Given the description of an element on the screen output the (x, y) to click on. 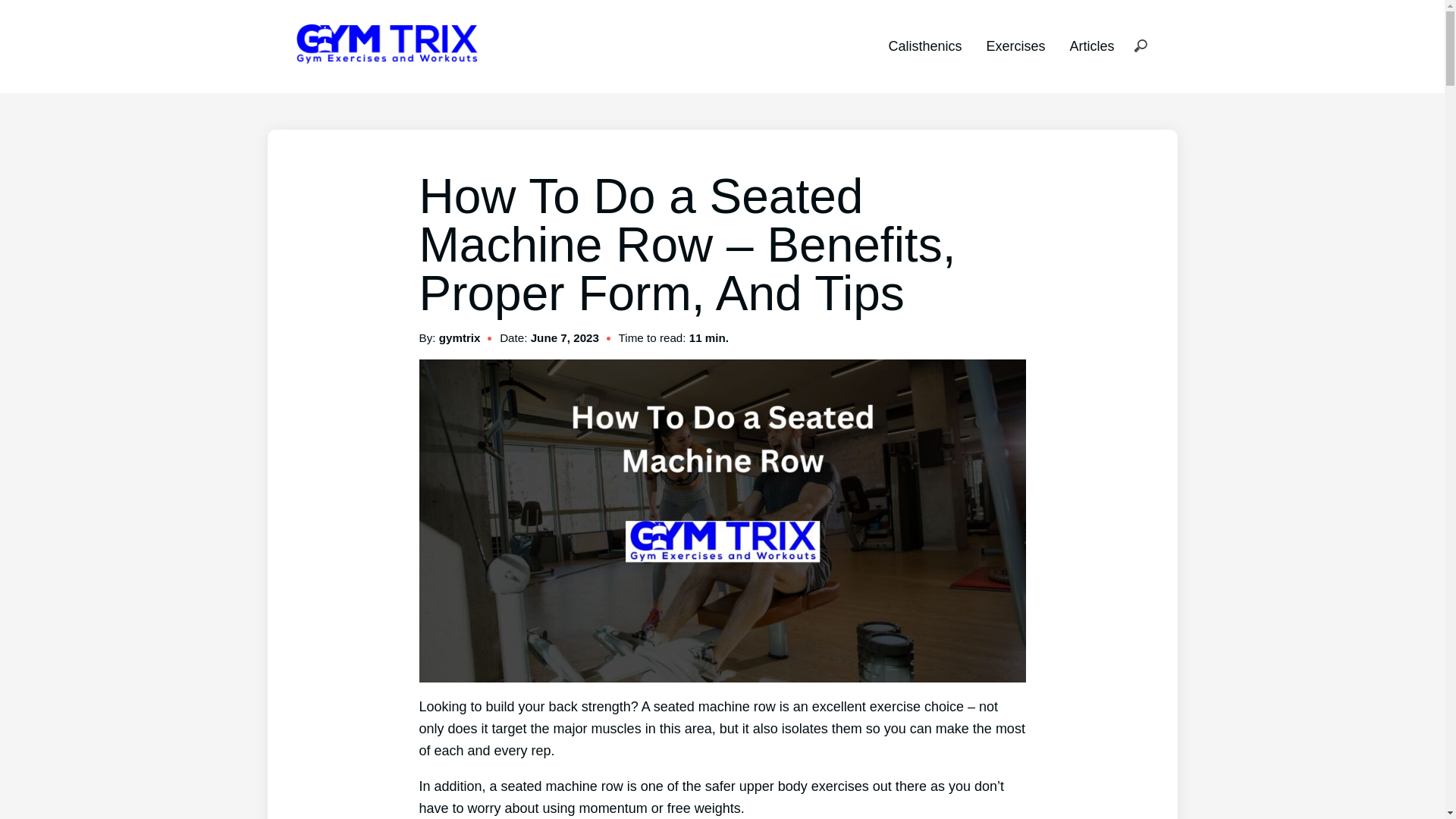
Articles (1090, 46)
Calisthenics (924, 46)
Search for: (1139, 46)
Exercises (1015, 46)
